Given the description of an element on the screen output the (x, y) to click on. 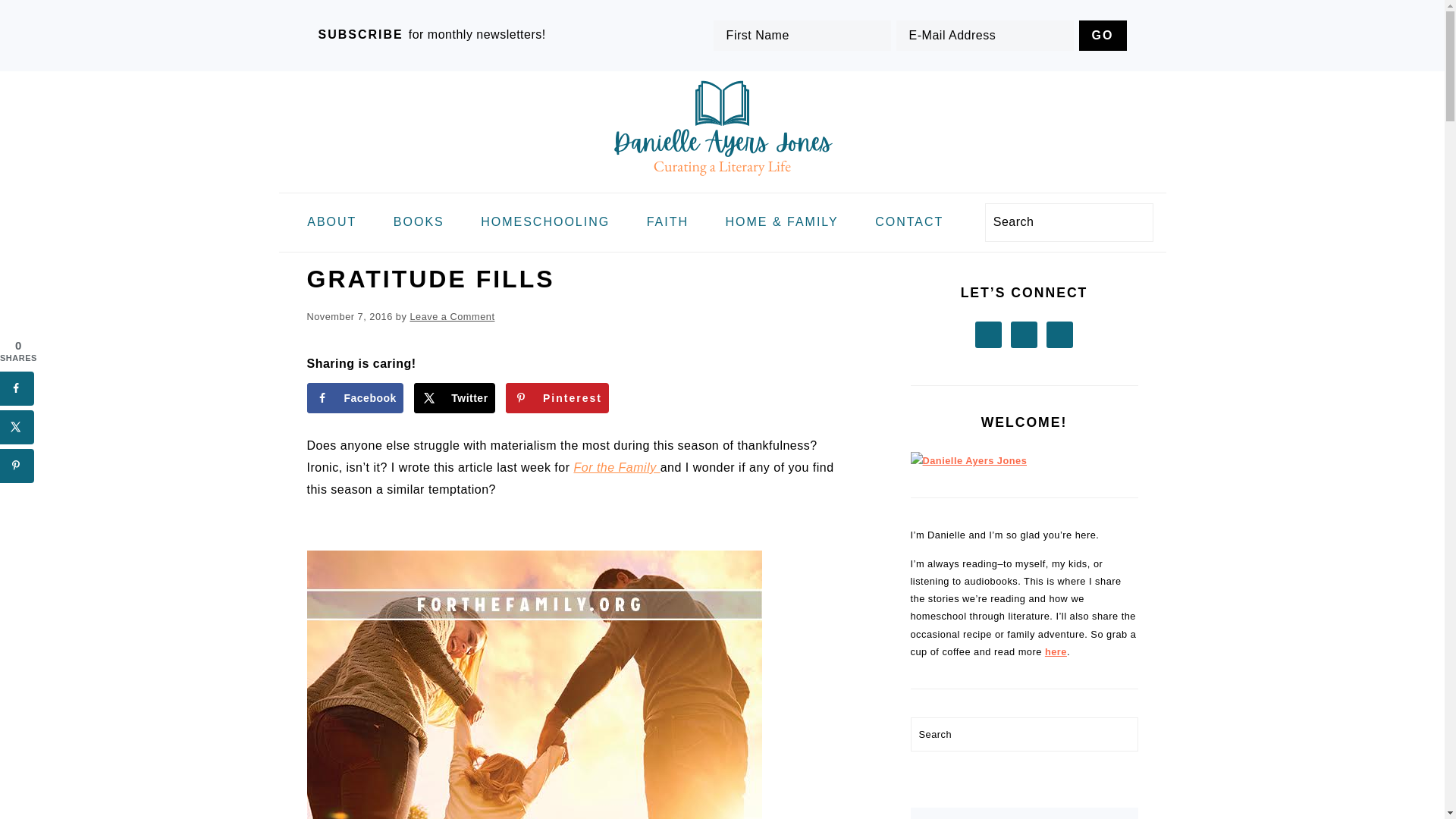
Twitter (454, 398)
For the Family (616, 467)
Share on X (16, 427)
BOOKS (418, 222)
Pinterest (556, 398)
Go (1102, 35)
danielleayersjones.com (721, 180)
Go (1102, 35)
Leave a Comment (452, 316)
Share on Facebook (354, 398)
CONTACT (909, 222)
